Given the description of an element on the screen output the (x, y) to click on. 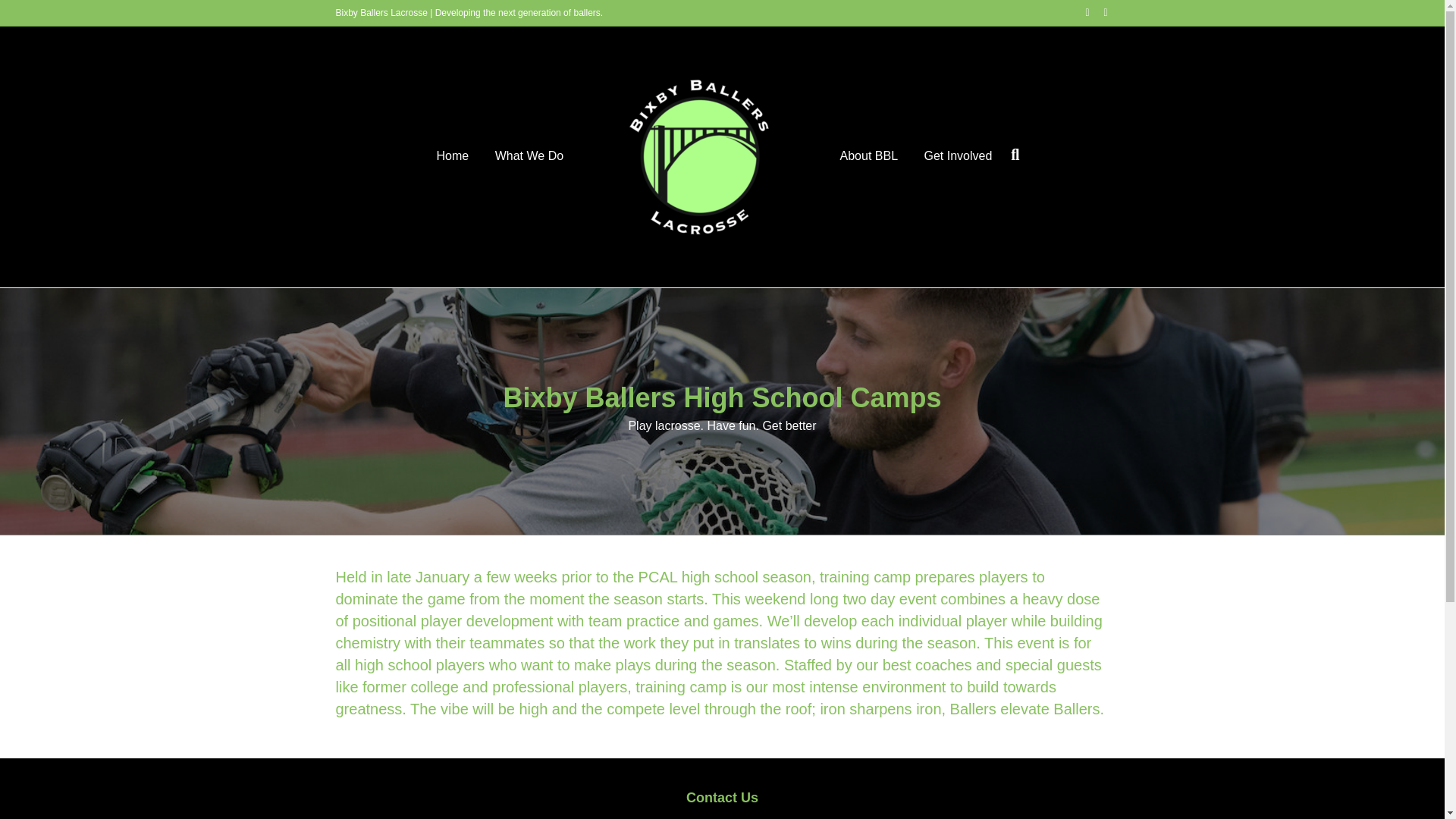
Contact Us (721, 797)
Home (452, 156)
Instagram (1097, 11)
What We Do (529, 156)
Youtube (1079, 11)
Contact Us (721, 797)
Get Involved (958, 156)
About BBL (869, 156)
